Given the description of an element on the screen output the (x, y) to click on. 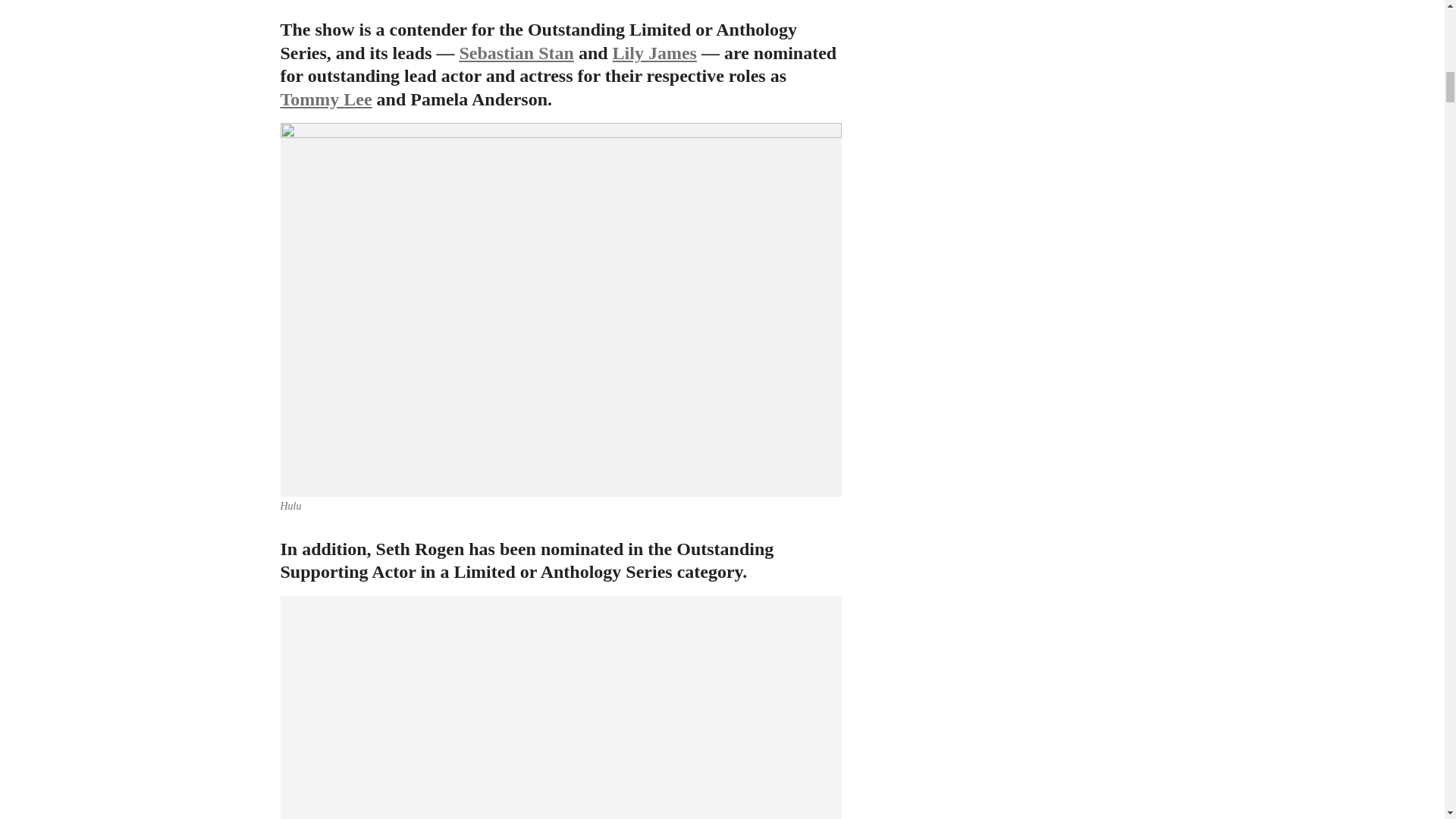
Sebastian Stan (516, 53)
Tommy Lee (326, 98)
Lily James (654, 53)
